Given the description of an element on the screen output the (x, y) to click on. 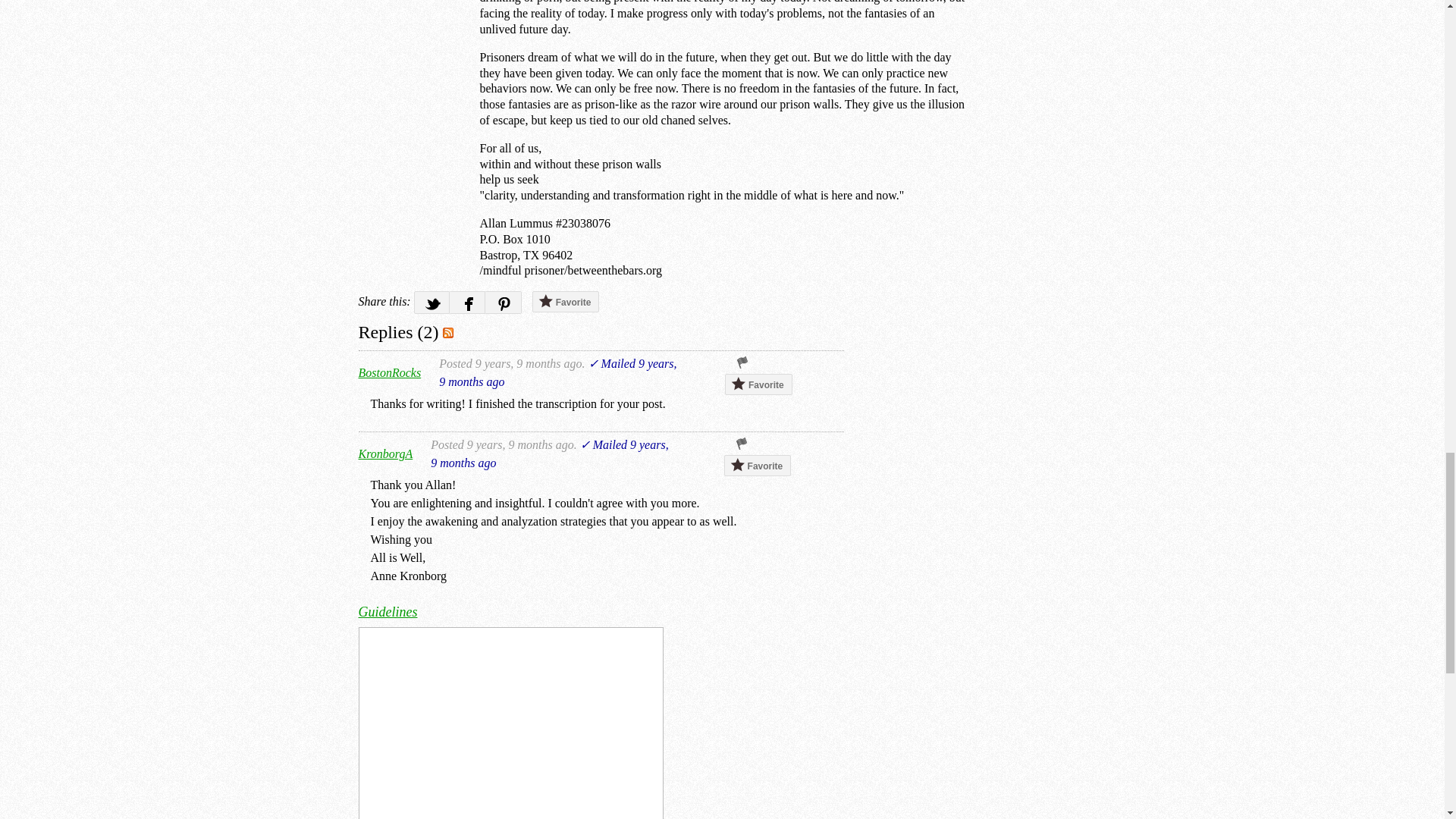
Flag comment (742, 362)
Mark as favorite (757, 465)
Mark as favorite (565, 301)
Share on Pinterest (502, 302)
Share on twitter (431, 302)
Mark as favorite (758, 383)
Flag comment (741, 443)
Share on facebook (466, 302)
